Given the description of an element on the screen output the (x, y) to click on. 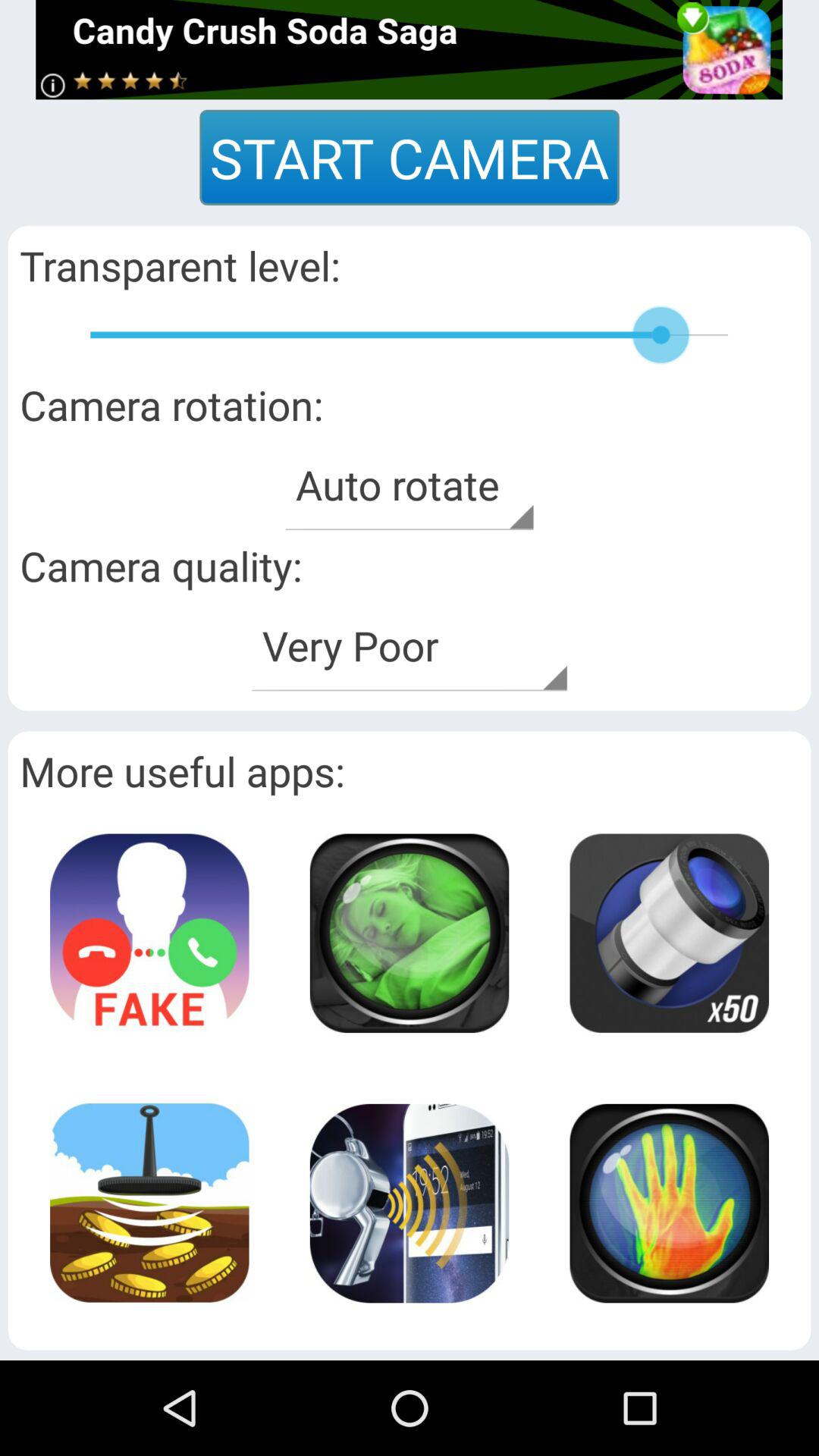
image page (408, 932)
